Given the description of an element on the screen output the (x, y) to click on. 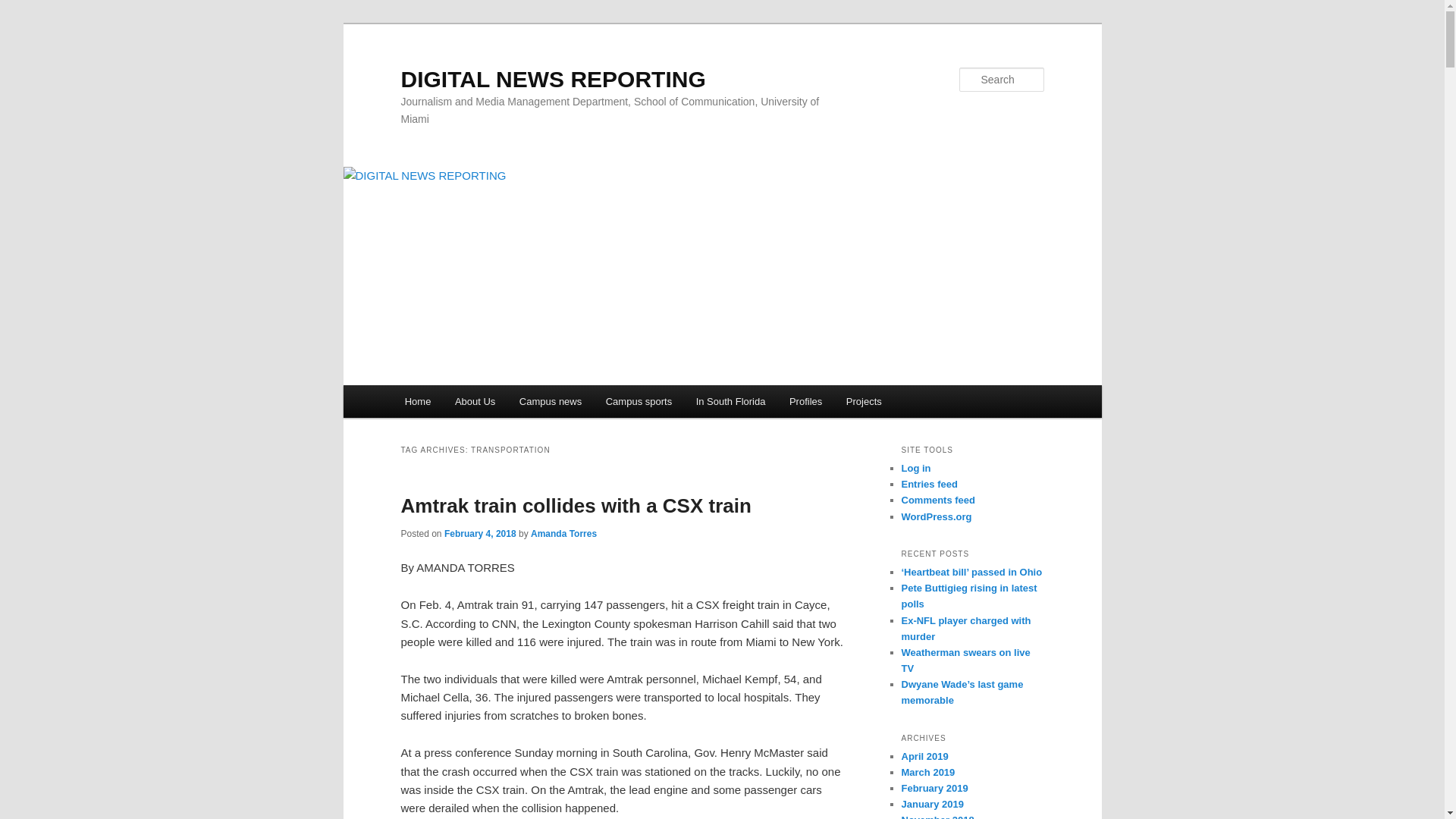
7:17 pm (480, 533)
Home (417, 400)
About Us (474, 400)
View all posts by Amanda Torres (563, 533)
Campus news (550, 400)
Search (24, 8)
DIGITAL NEWS REPORTING (552, 78)
